Given the description of an element on the screen output the (x, y) to click on. 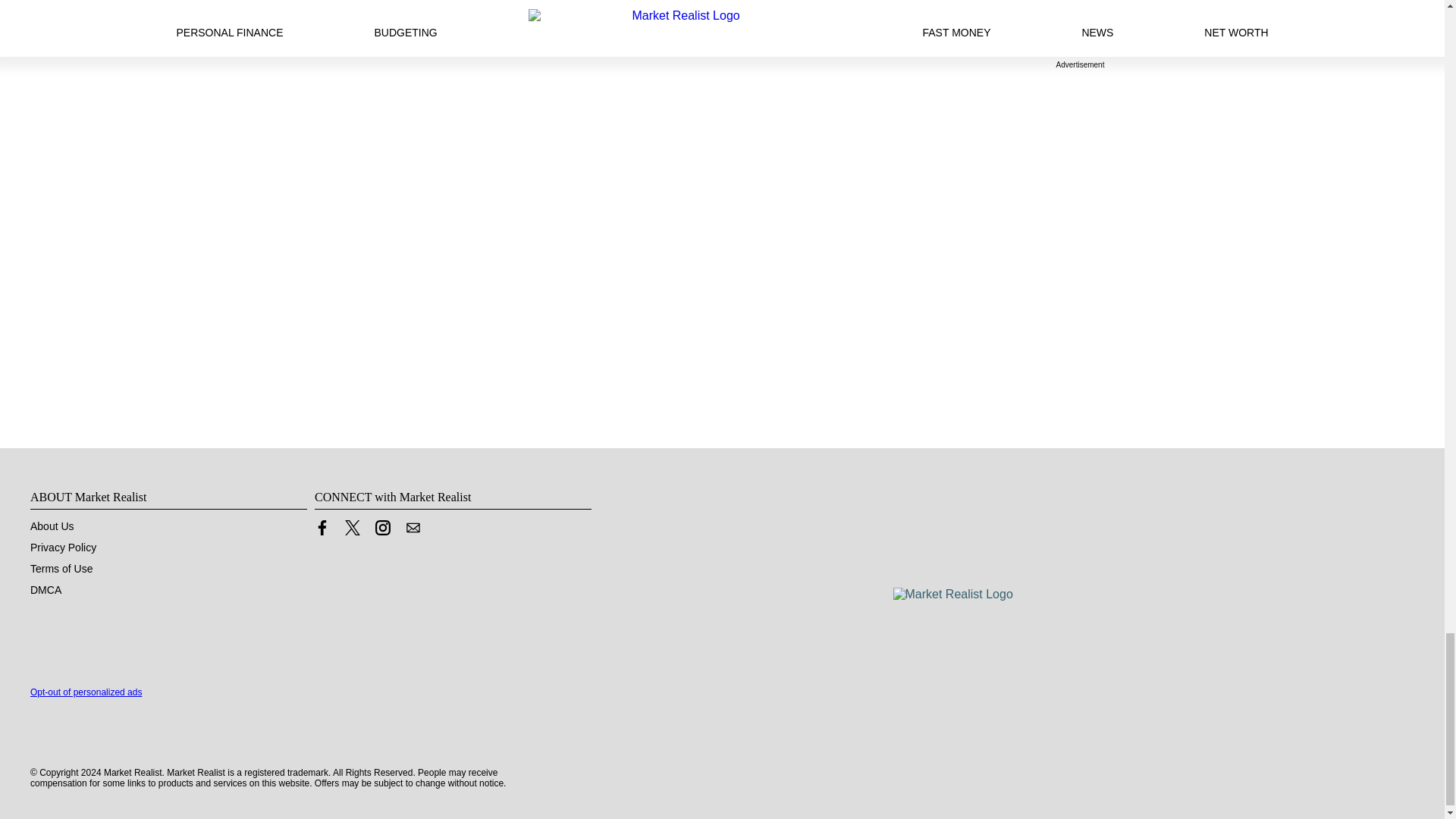
Link to Instagram (382, 531)
DMCA (45, 589)
Link to Facebook (322, 531)
Contact us by Email (413, 527)
Link to Facebook (322, 527)
DMCA (45, 589)
Terms of Use (61, 568)
Contact us by Email (413, 531)
Privacy Policy (63, 547)
About Us (52, 526)
Privacy Policy (63, 547)
Link to Instagram (382, 527)
Opt-out of personalized ads (85, 692)
Link to X (352, 527)
About Us (52, 526)
